Given the description of an element on the screen output the (x, y) to click on. 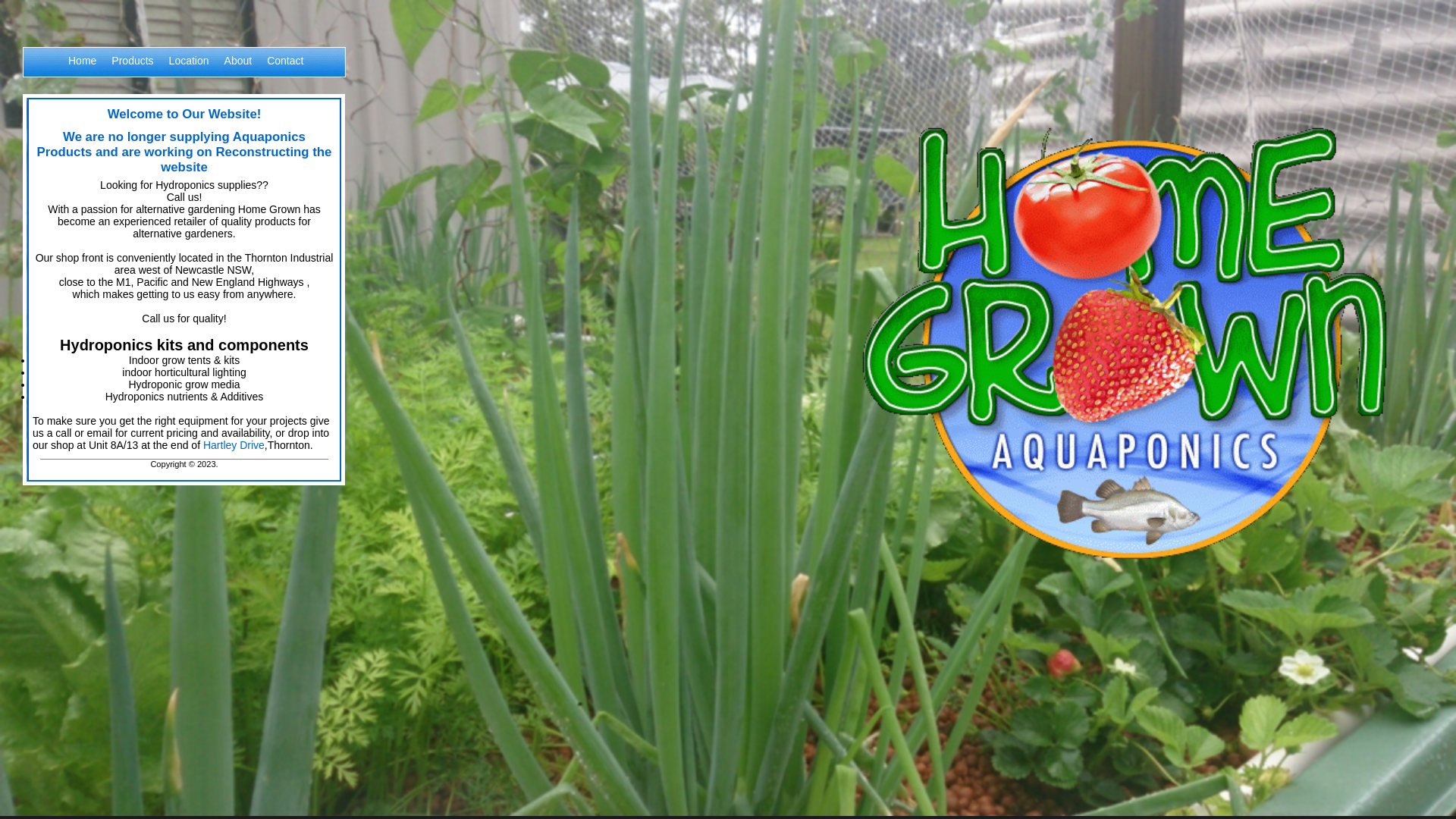
Hartley Drive Element type: text (233, 445)
Home Element type: text (81, 70)
Products Element type: text (131, 70)
About Element type: text (238, 70)
Location Element type: text (188, 70)
Contact Element type: text (284, 70)
